Given the description of an element on the screen output the (x, y) to click on. 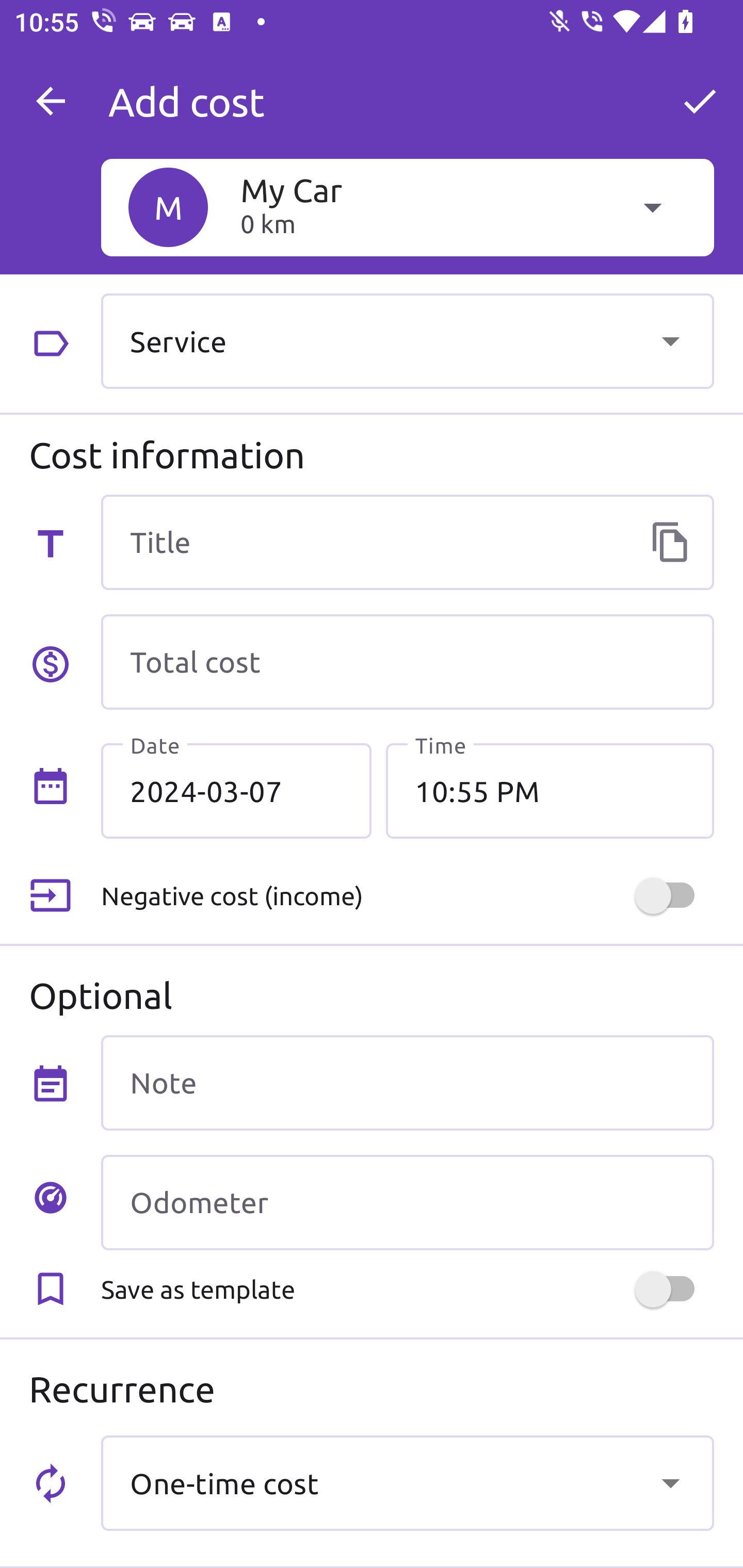
Navigate up (50, 101)
OK (699, 101)
M My Car 0 km (407, 206)
Service (407, 340)
Show dropdown menu (670, 340)
Title (407, 541)
Templates (670, 541)
Total cost  (407, 662)
2024-03-07 (236, 790)
10:55 PM (549, 790)
Negative cost (income) (407, 895)
Note (407, 1082)
Odometer (407, 1202)
Save as template (407, 1289)
One-time cost (407, 1482)
Show dropdown menu (670, 1482)
